Given the description of an element on the screen output the (x, y) to click on. 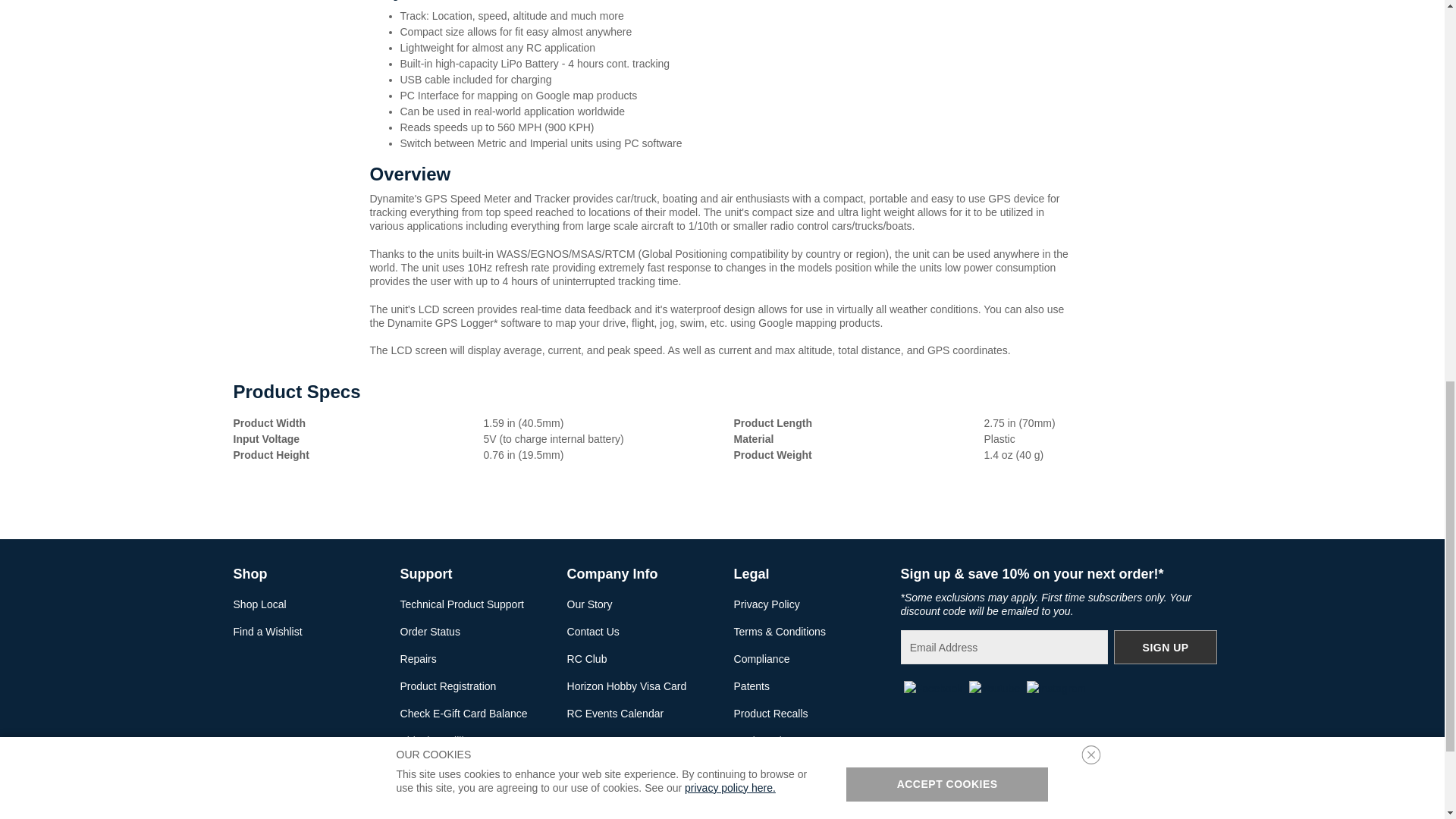
Go to Facebook (933, 687)
